Given the description of an element on the screen output the (x, y) to click on. 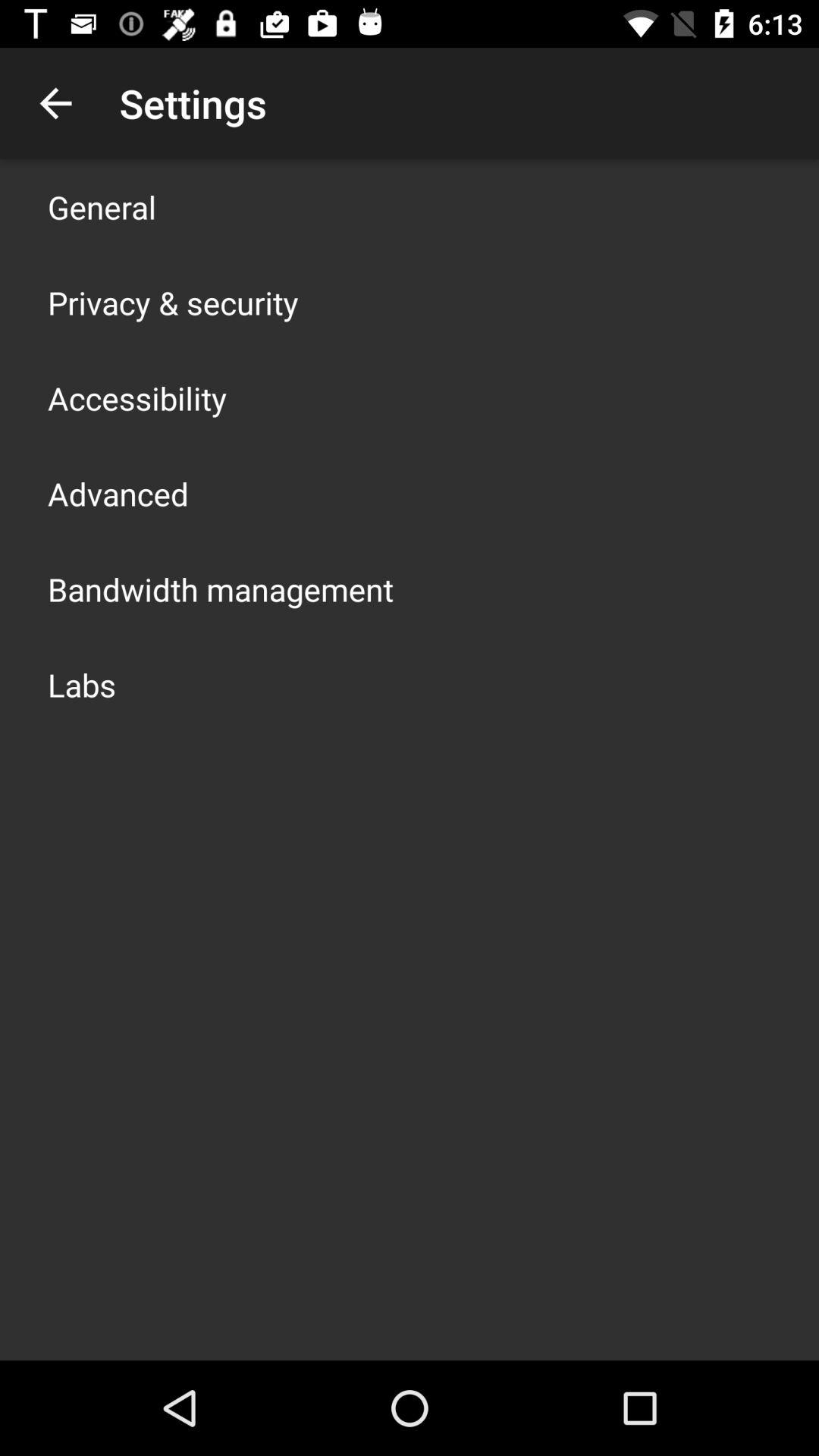
select app above the privacy & security app (101, 206)
